Given the description of an element on the screen output the (x, y) to click on. 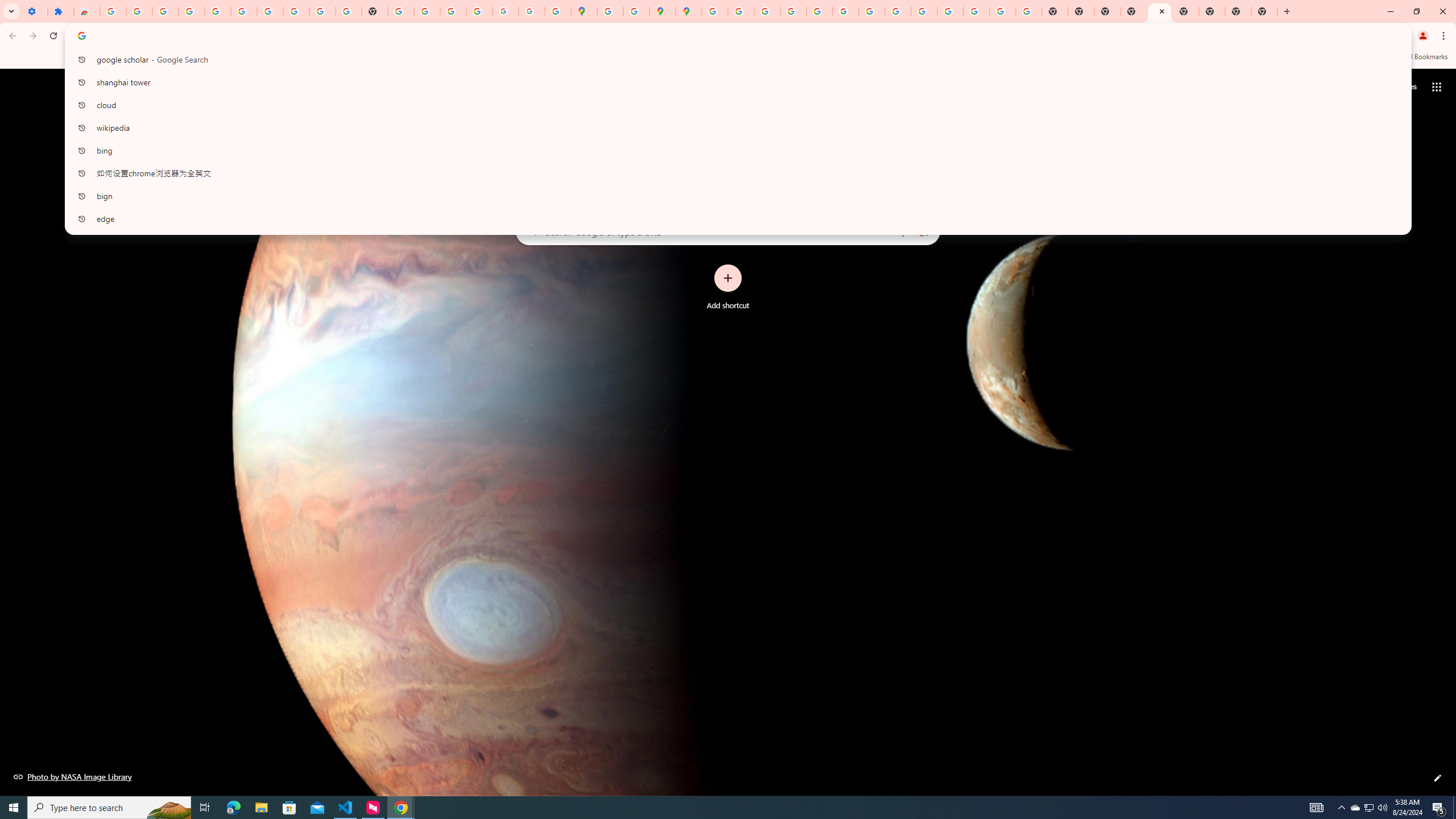
YouTube (322, 11)
https://scholar.google.com/ (400, 11)
edge search from history (733, 218)
Google Maps (584, 11)
google scholar search from history (733, 59)
New Tab (1133, 11)
Search Google or type a URL (727, 230)
